Given the description of an element on the screen output the (x, y) to click on. 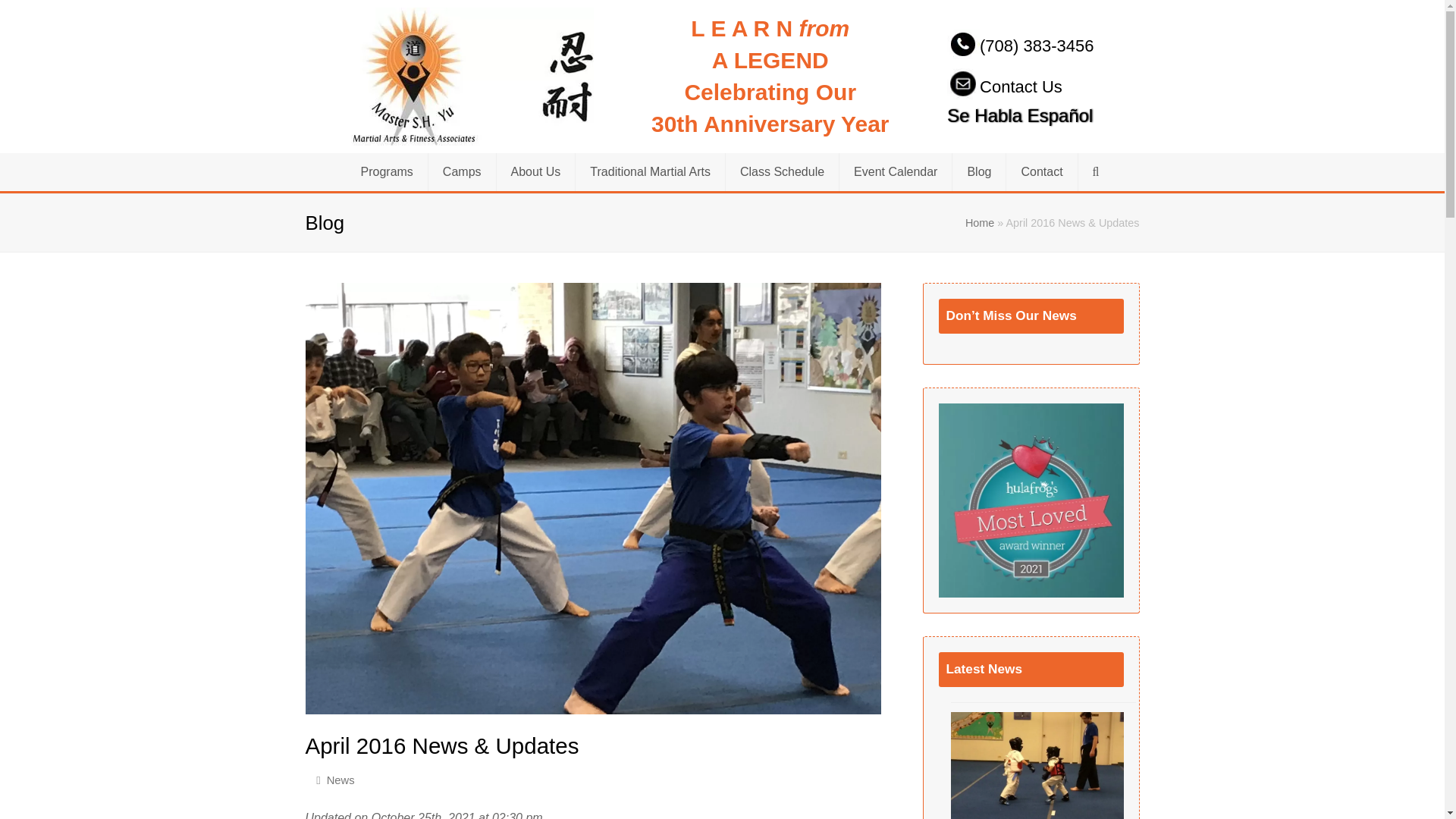
About Us (535, 171)
Camps (462, 171)
Class Schedule (781, 171)
Event Calendar (896, 171)
Contact Us (1004, 86)
Martial Arts Equipment Cleaning and Care Tips (1037, 765)
Traditional Martial Arts (650, 171)
Contact (1041, 171)
Programs (386, 171)
Blog (979, 171)
